Given the description of an element on the screen output the (x, y) to click on. 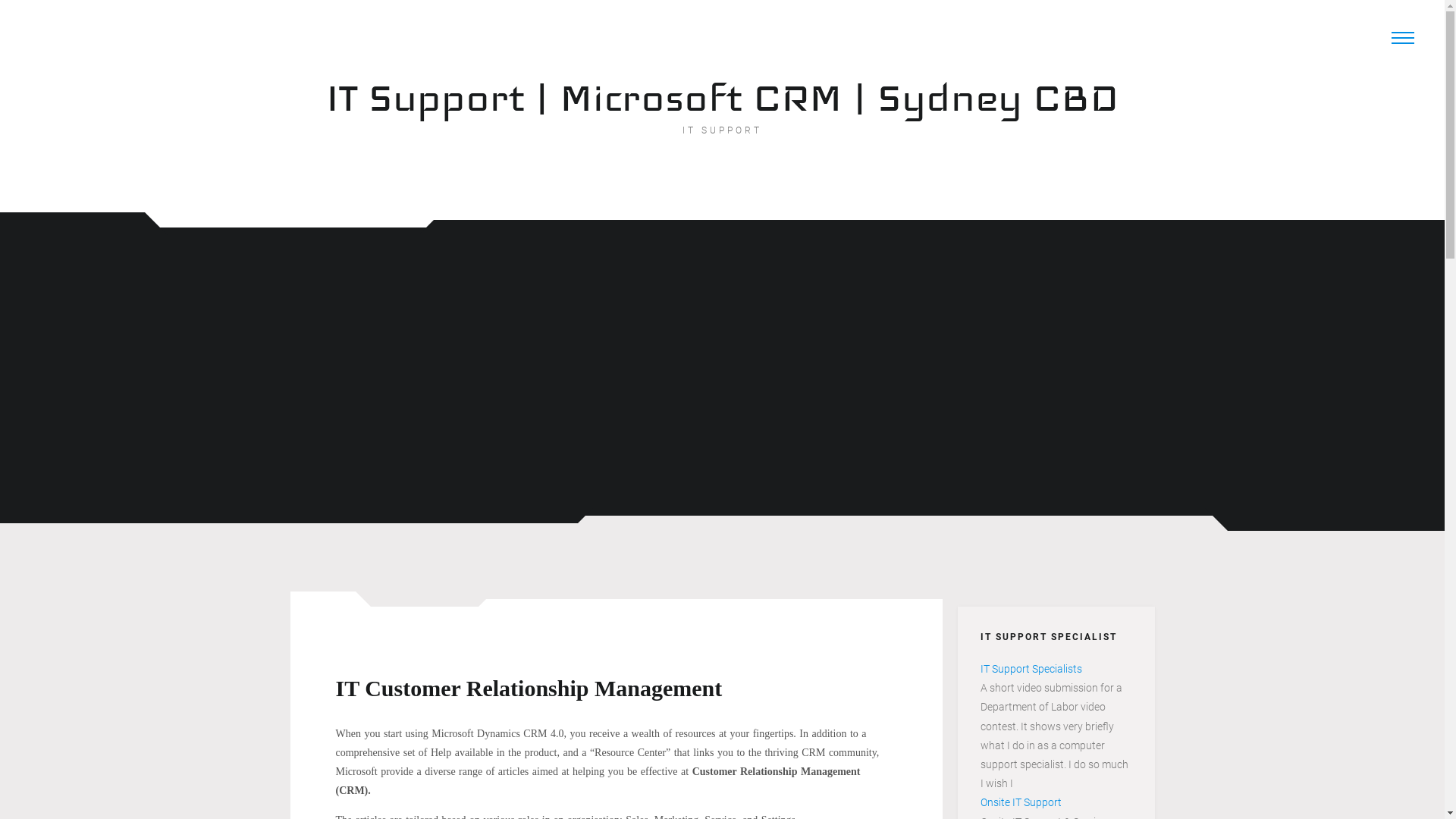
IT Support | Microsoft CRM | Sydney CBD Element type: text (722, 97)
IT Support Specialists Element type: text (1030, 668)
Onsite IT Support Element type: text (1019, 802)
